Given the description of an element on the screen output the (x, y) to click on. 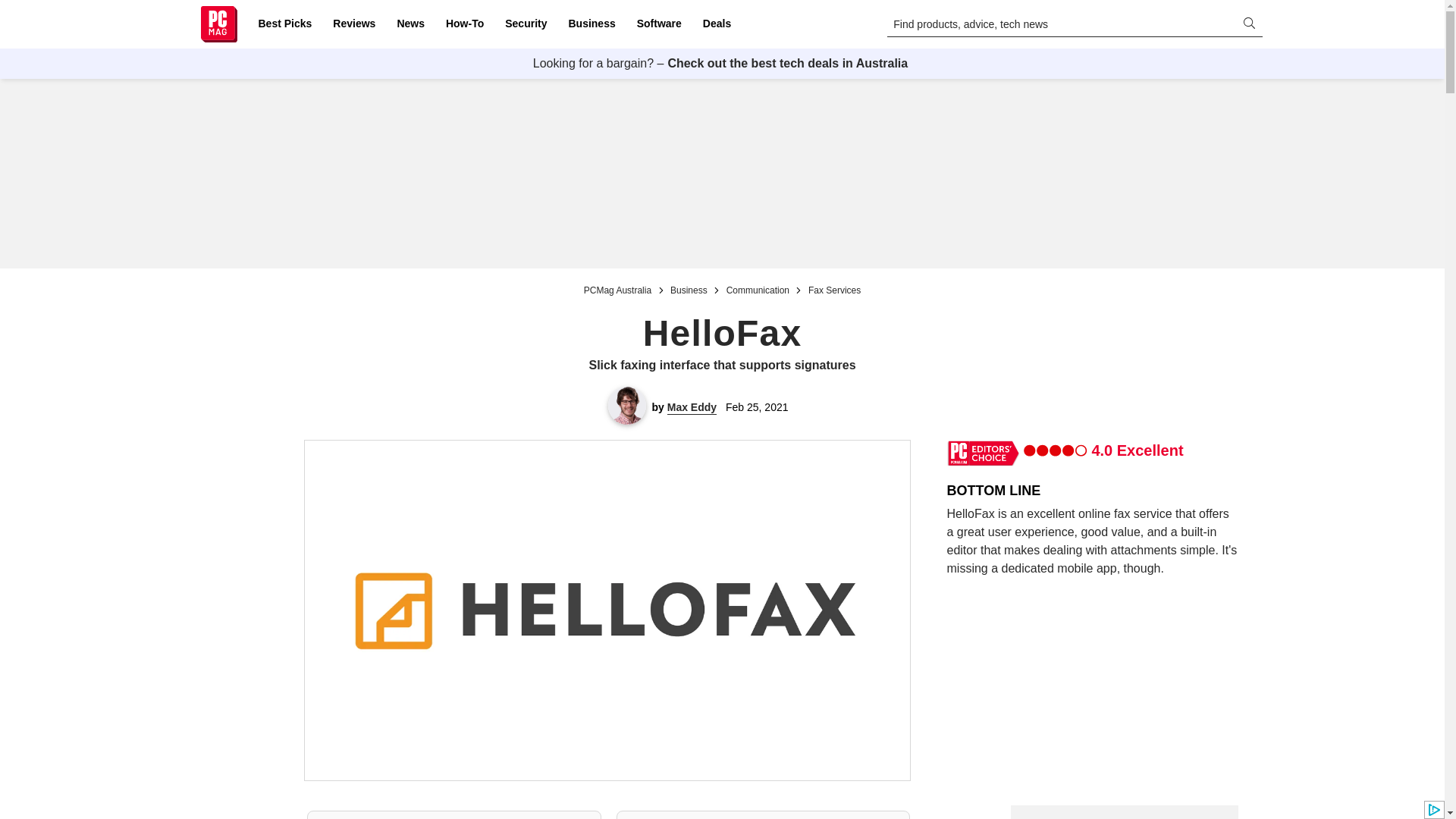
How-To (464, 24)
Business (591, 24)
Reviews (353, 24)
Security (526, 24)
Best Picks (284, 24)
